Given the description of an element on the screen output the (x, y) to click on. 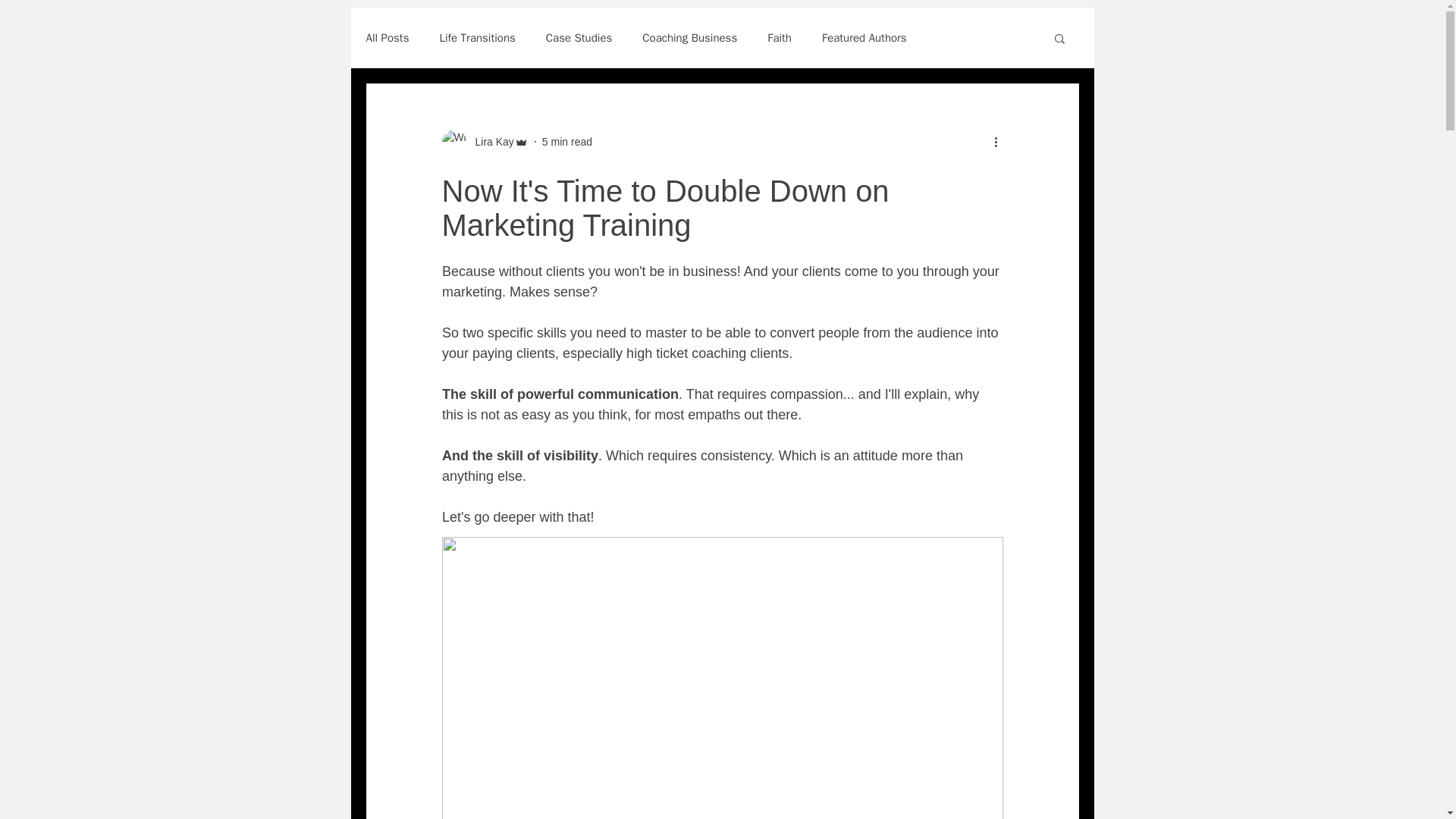
Coaching Business (689, 37)
Life Transitions (477, 37)
Featured Authors (864, 37)
5 min read (566, 141)
Case Studies (578, 37)
All Posts (387, 37)
Lira Kay (489, 141)
Faith (779, 37)
